Given the description of an element on the screen output the (x, y) to click on. 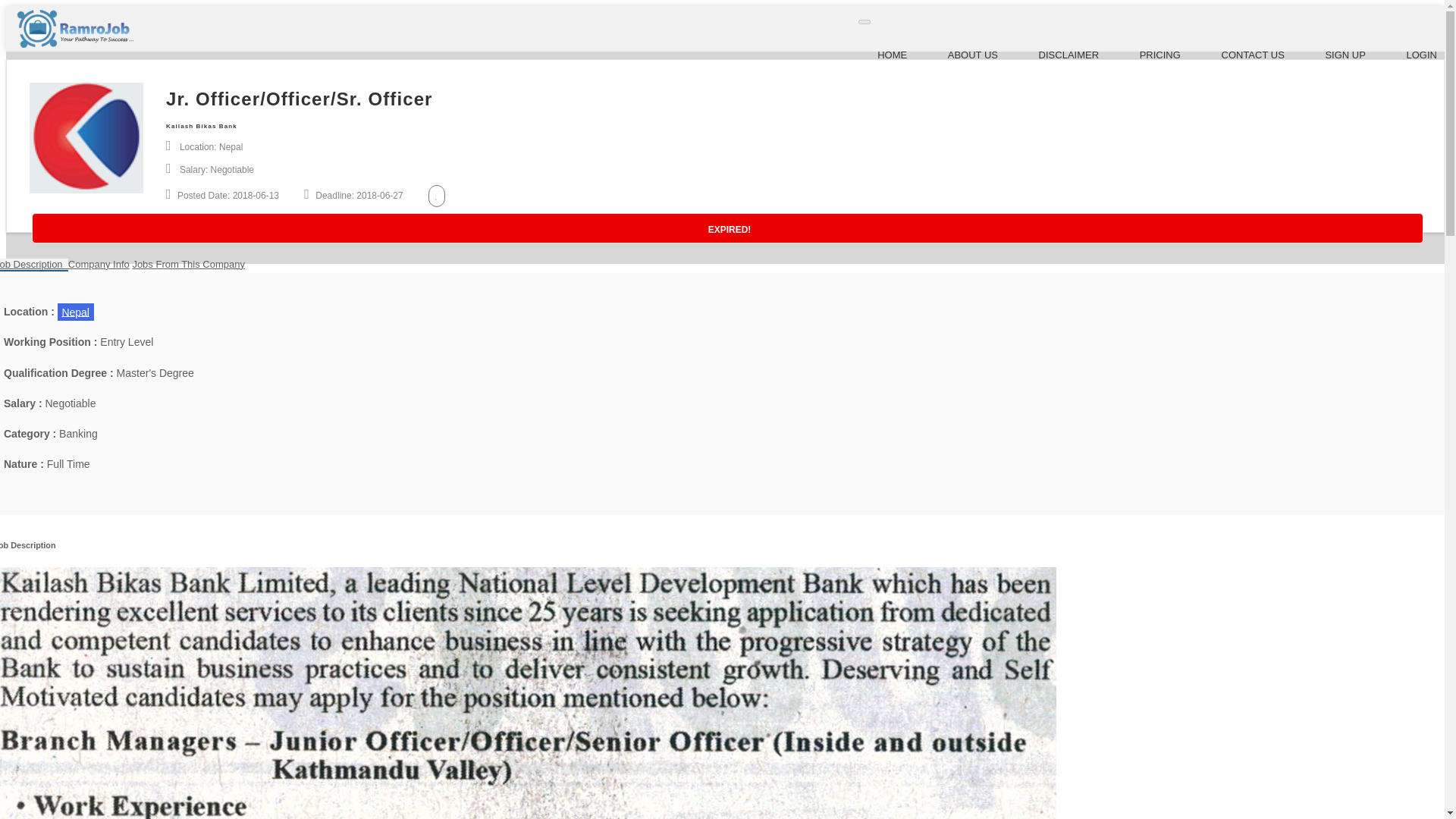
Ramro Job - Search Jobs in Nepal (74, 44)
DISCLAIMER (1069, 54)
Ramro Job - Online Job Portal (892, 54)
Contact Ramrojob (1252, 54)
ABOUT US (972, 54)
Register (1345, 54)
Login (1421, 54)
HOME (892, 54)
Job Posting Pricing (1160, 54)
Jobs From This Company (188, 264)
EXPIRED! (727, 227)
SIGN UP (1345, 54)
PRICING (1160, 54)
Company Info (98, 264)
CONTACT US (1252, 54)
